Given the description of an element on the screen output the (x, y) to click on. 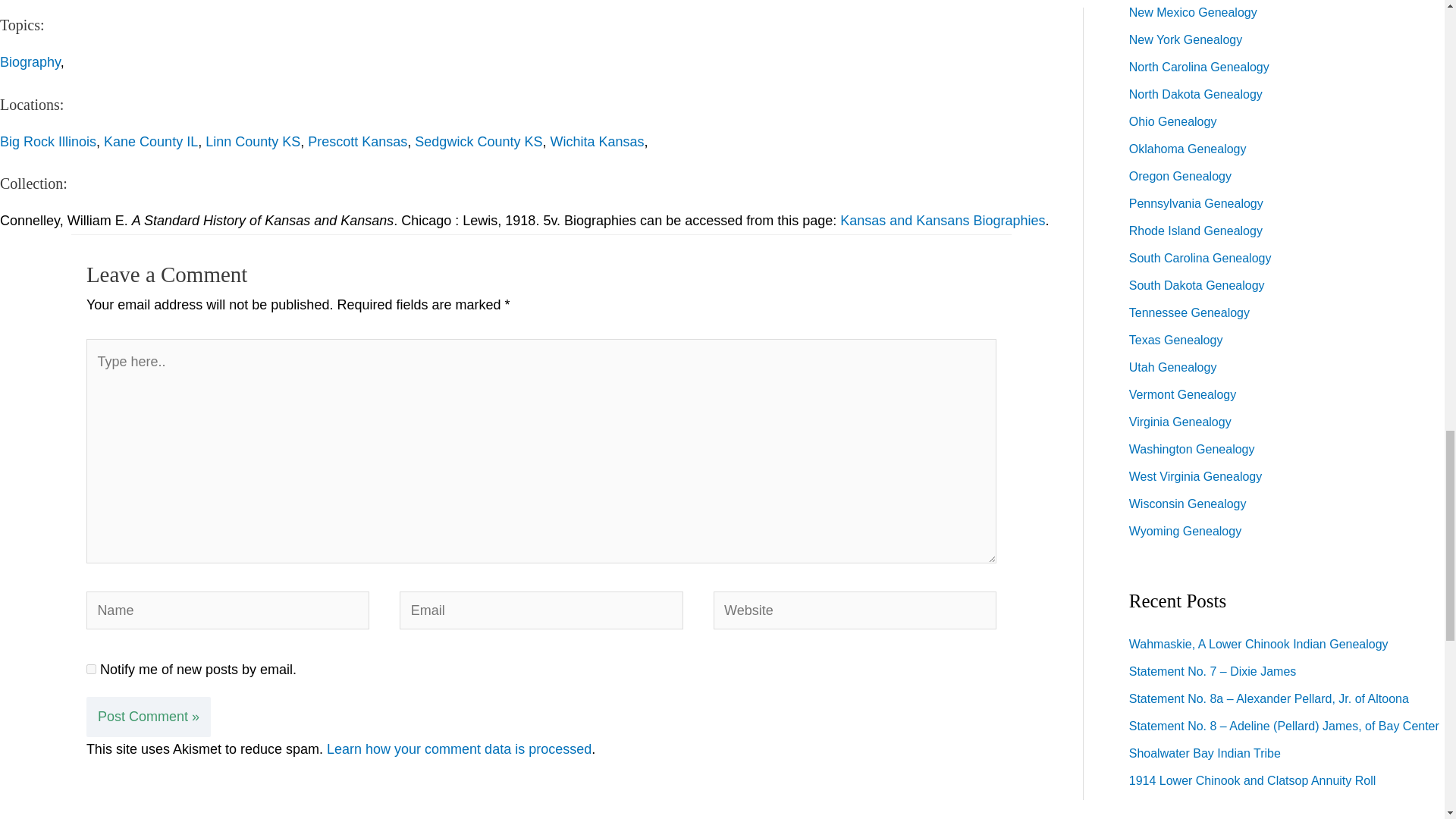
Kansas and Kansans Biographies (942, 220)
Kane County IL (150, 141)
Wichita Kansas (596, 141)
Prescott Kansas (357, 141)
Sedgwick County KS (477, 141)
Biography (30, 61)
Kansas and Kansans Biographies (942, 220)
Learn how your comment data is processed (458, 749)
Big Rock Illinois (48, 141)
subscribe (90, 669)
Linn County KS (252, 141)
